Given the description of an element on the screen output the (x, y) to click on. 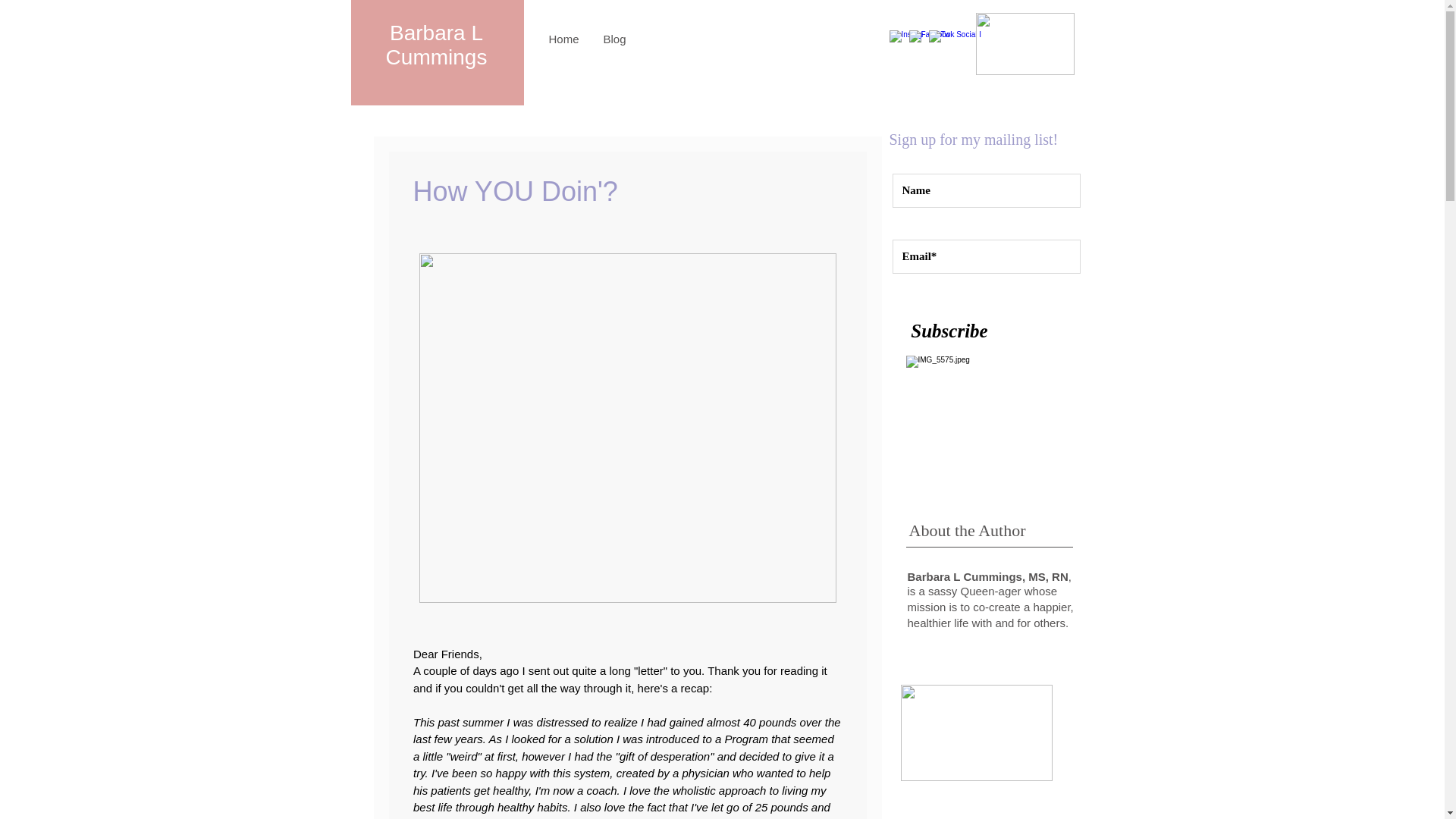
Subscribe (949, 330)
Blog (614, 38)
Home (564, 38)
Barbara L Cummings (436, 44)
